Given the description of an element on the screen output the (x, y) to click on. 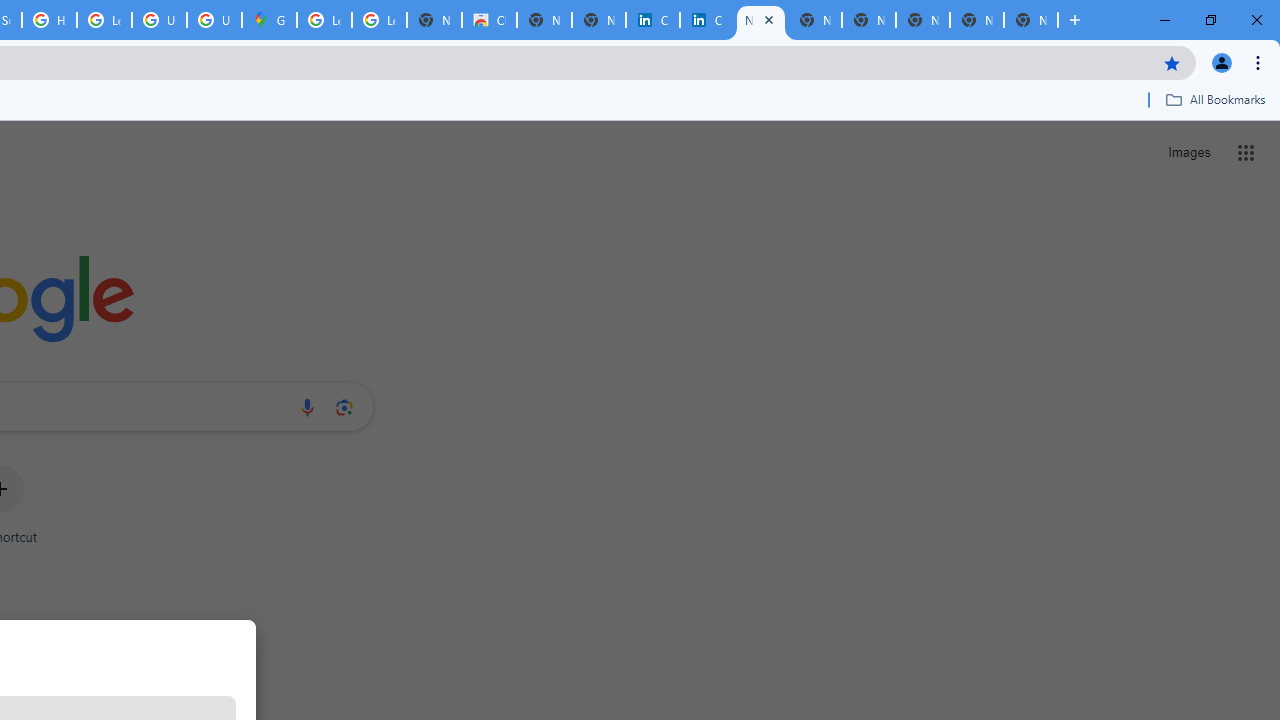
Google Maps (268, 20)
New Tab (1030, 20)
You (1221, 62)
Cookie Policy | LinkedIn (652, 20)
